Given the description of an element on the screen output the (x, y) to click on. 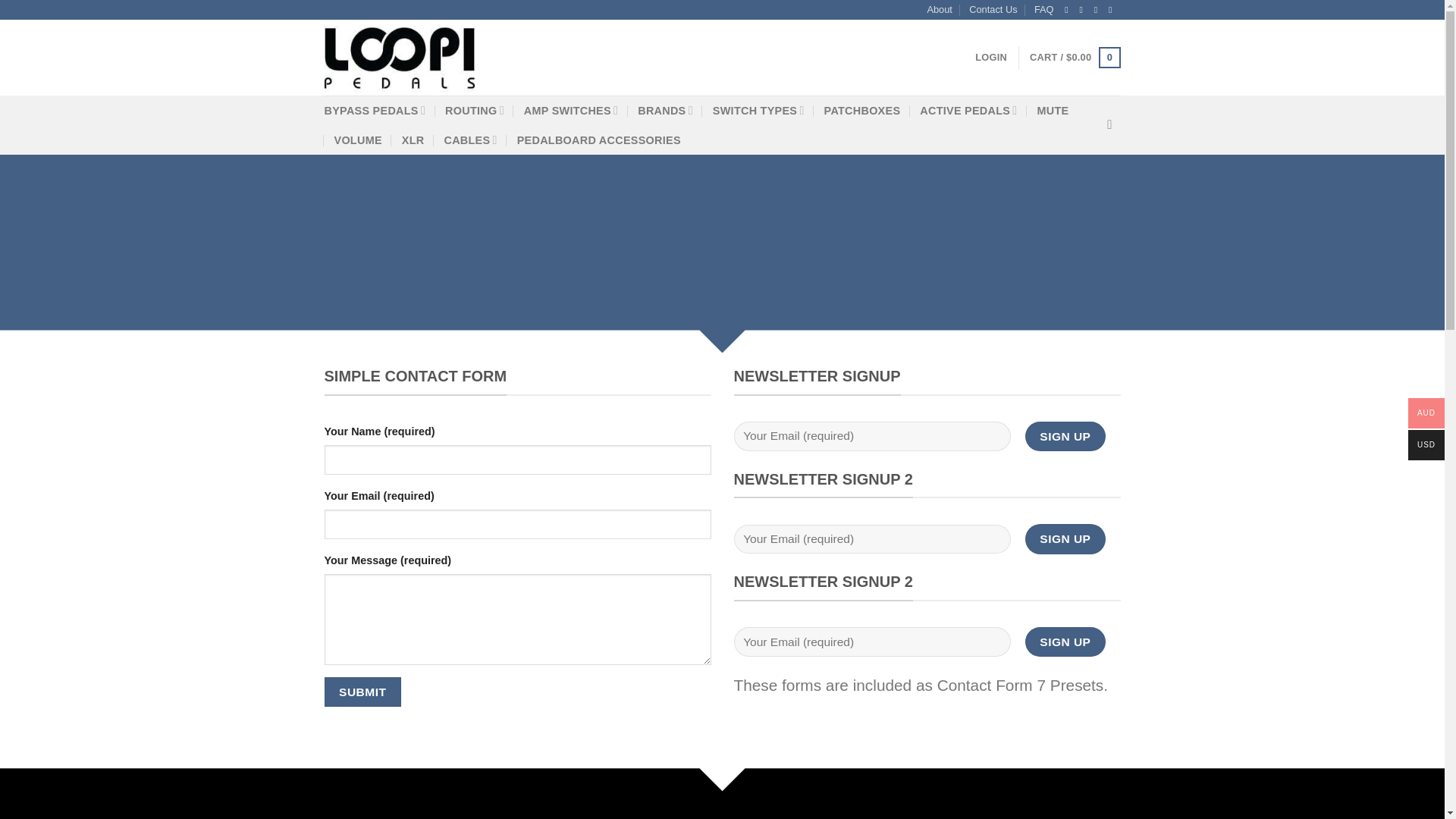
Cart (1074, 57)
Sign Up (1065, 641)
AMP SWITCHES (570, 110)
About (939, 9)
FAQ (1043, 9)
Sign Up (1065, 538)
LOGIN (991, 57)
Contact Us (992, 9)
Sign Up (1065, 436)
BRANDS (665, 110)
